Given the description of an element on the screen output the (x, y) to click on. 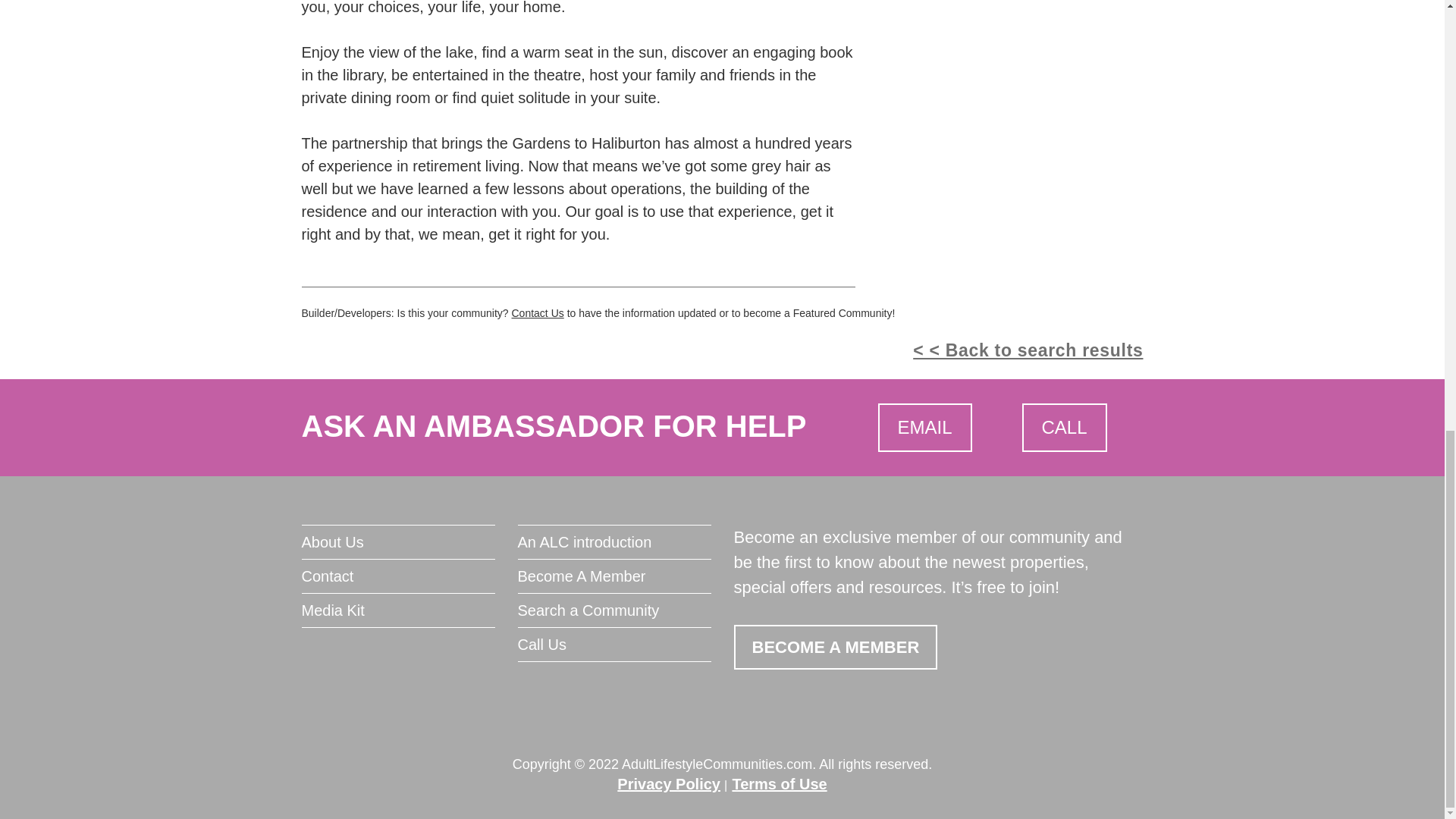
Contact Us (537, 313)
Media Kit (398, 610)
Contact (398, 575)
Become A Member (613, 575)
Search a Community (613, 610)
CALL (1064, 427)
EMAIL (924, 427)
About Us (398, 541)
An ALC introduction (613, 541)
